Given the description of an element on the screen output the (x, y) to click on. 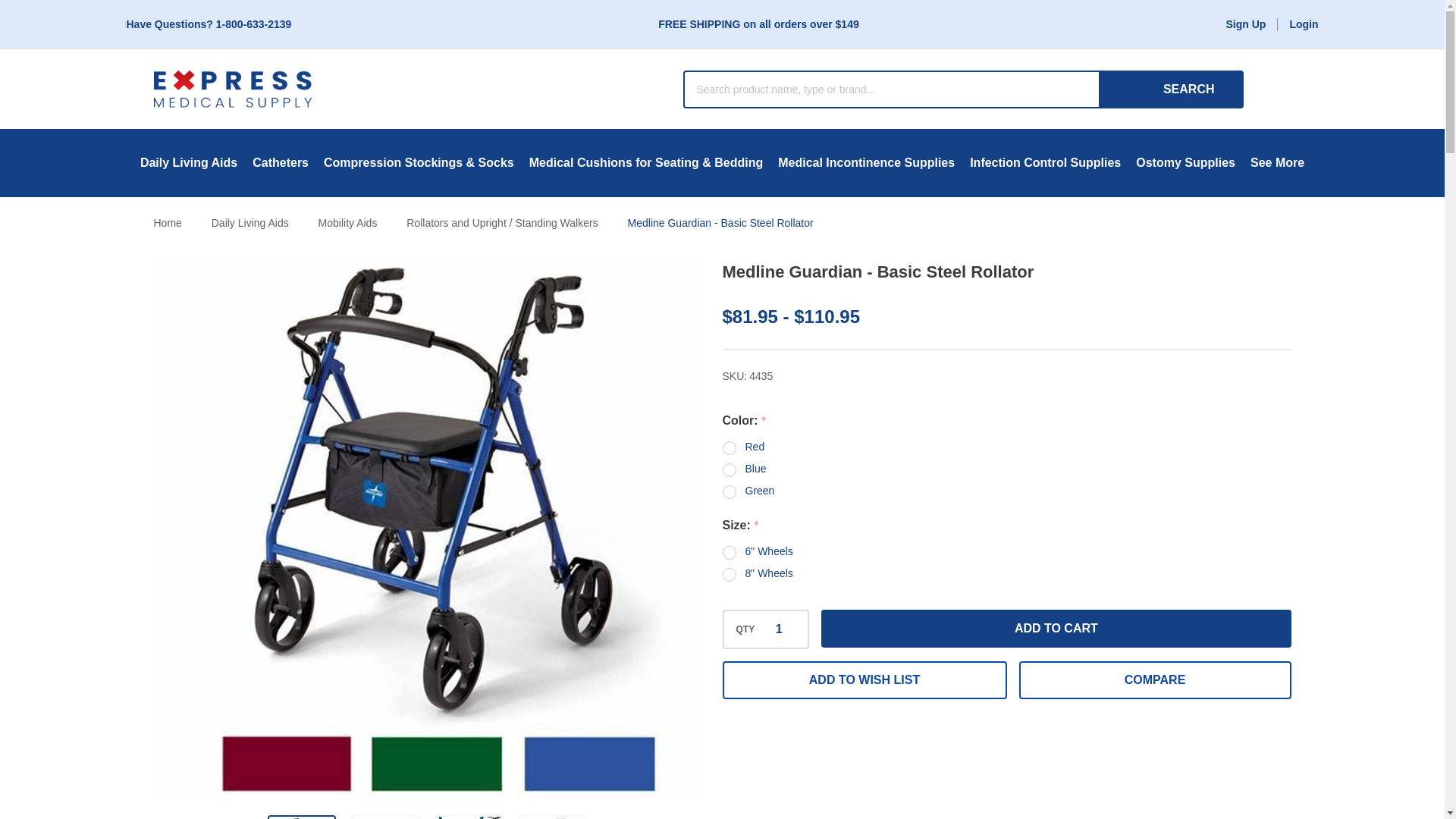
Sign Up (1245, 24)
Daily Living Aids (188, 162)
1 (778, 628)
Express Medical Supply, Inc. (231, 88)
Sign Up (1245, 24)
1-800-633-2139 (253, 24)
